Given the description of an element on the screen output the (x, y) to click on. 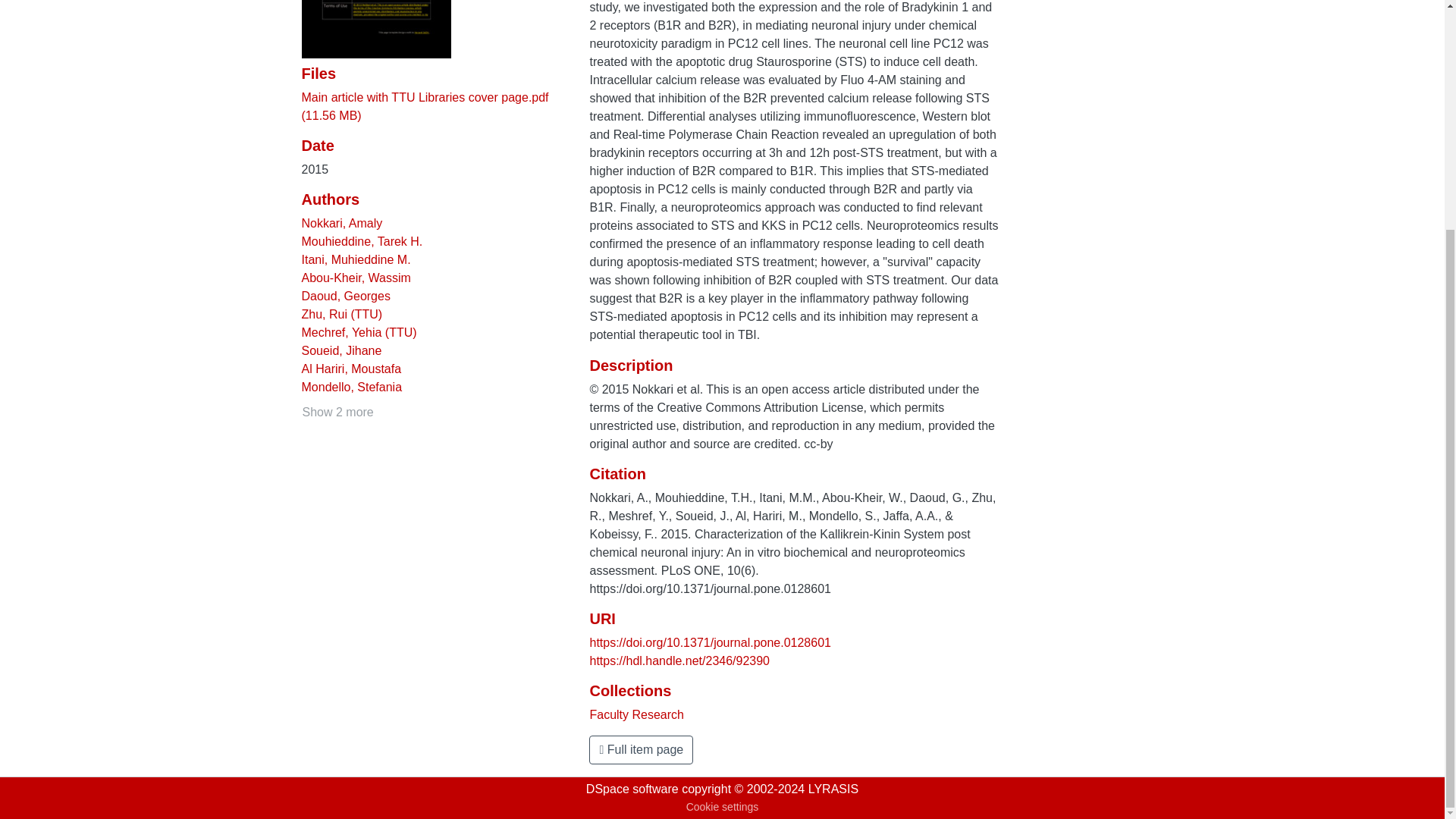
Full item page (641, 749)
Al Hariri, Moustafa (351, 368)
Abou-Kheir, Wassim (355, 277)
Itani, Muhieddine M. (355, 259)
Faculty Research (636, 714)
DSpace software (632, 788)
Nokkari, Amaly (341, 223)
Soueid, Jihane (341, 350)
Mouhieddine, Tarek H. (362, 241)
Mondello, Stefania (352, 386)
LYRASIS (833, 788)
Show 2 more (337, 412)
Daoud, Georges (345, 295)
